Given the description of an element on the screen output the (x, y) to click on. 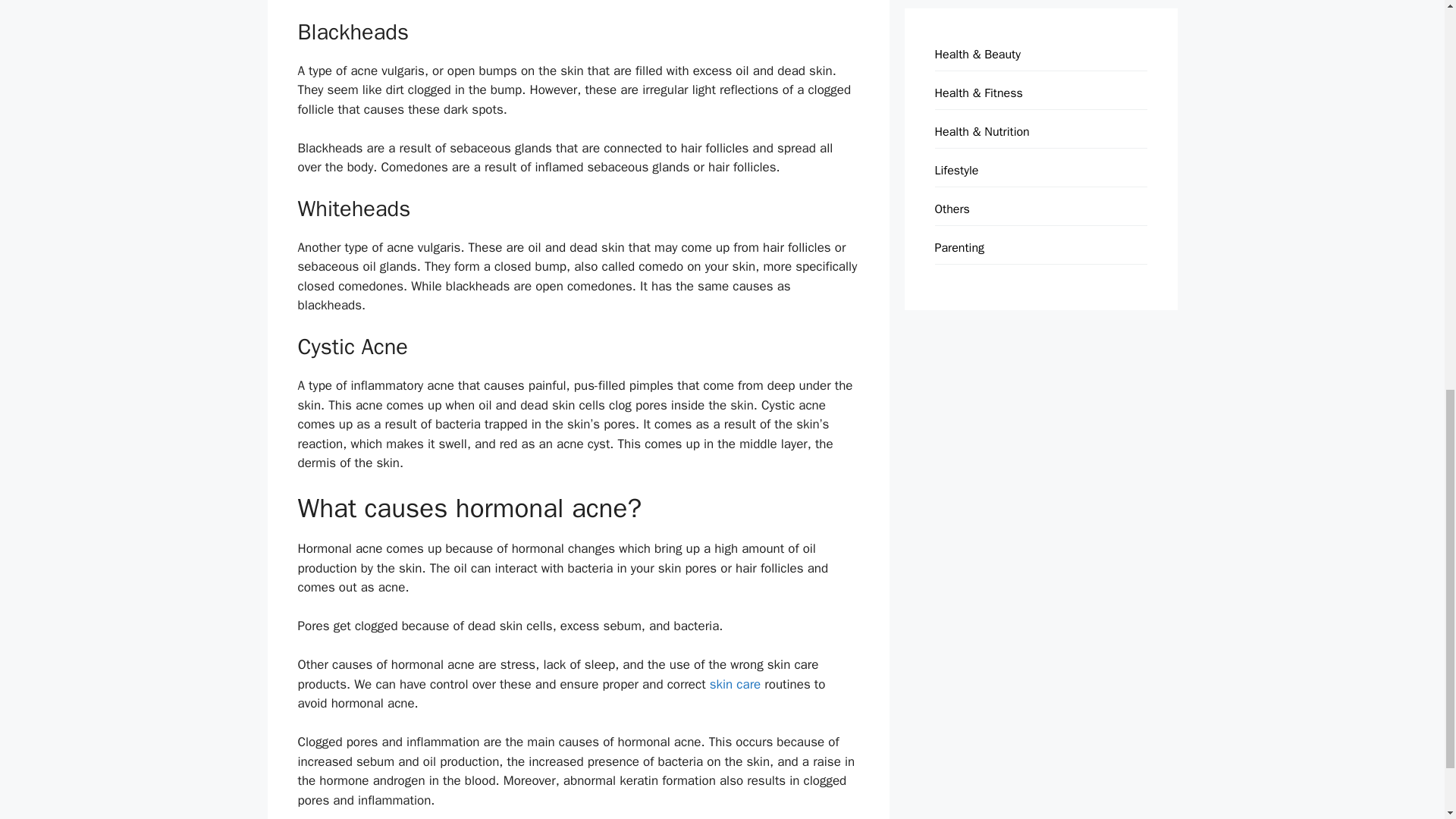
skin care (737, 684)
Parenting (959, 247)
Lifestyle (956, 170)
Others (951, 209)
